Given the description of an element on the screen output the (x, y) to click on. 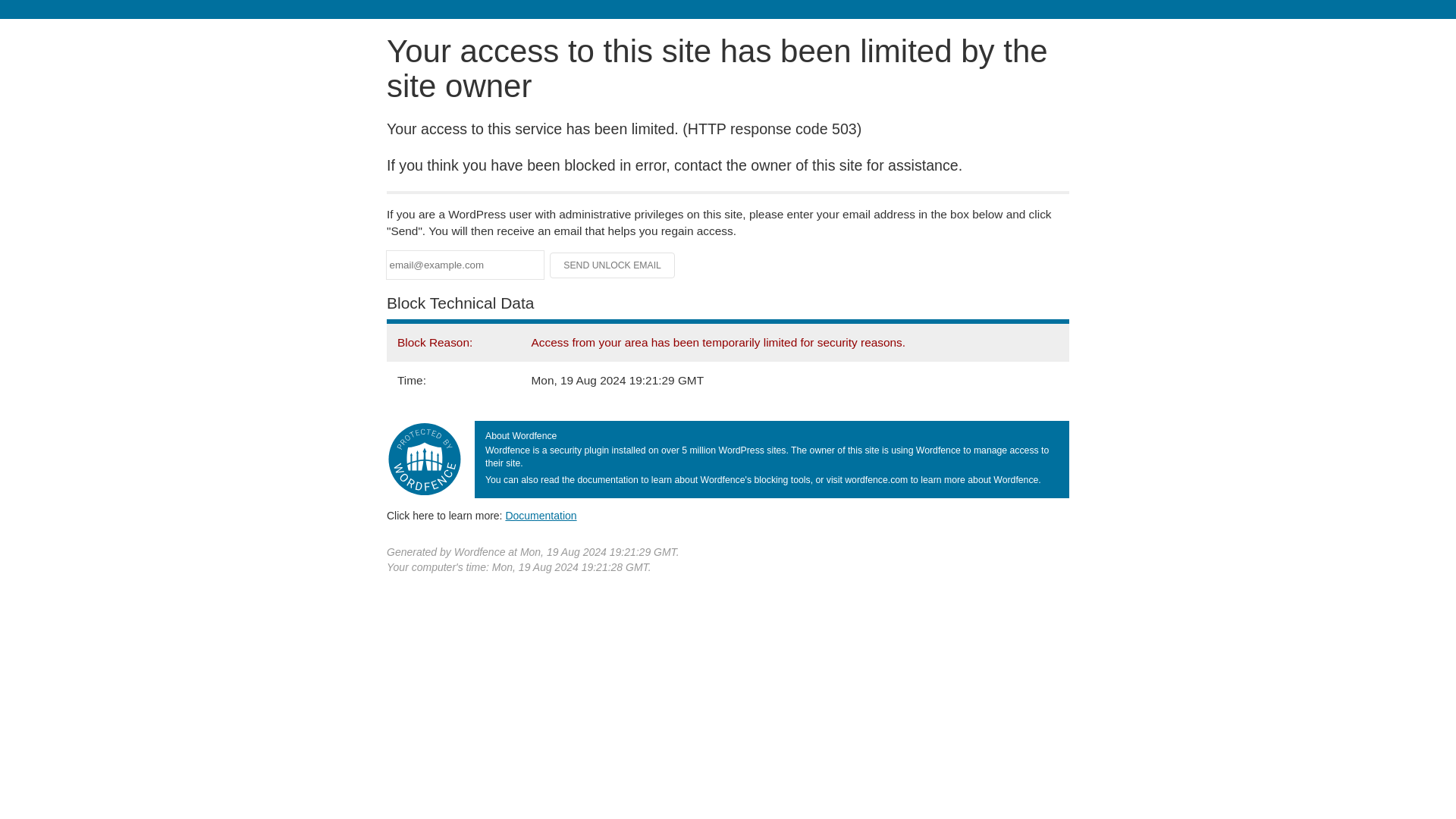
Send Unlock Email (612, 265)
Documentation (540, 515)
Send Unlock Email (612, 265)
